Given the description of an element on the screen output the (x, y) to click on. 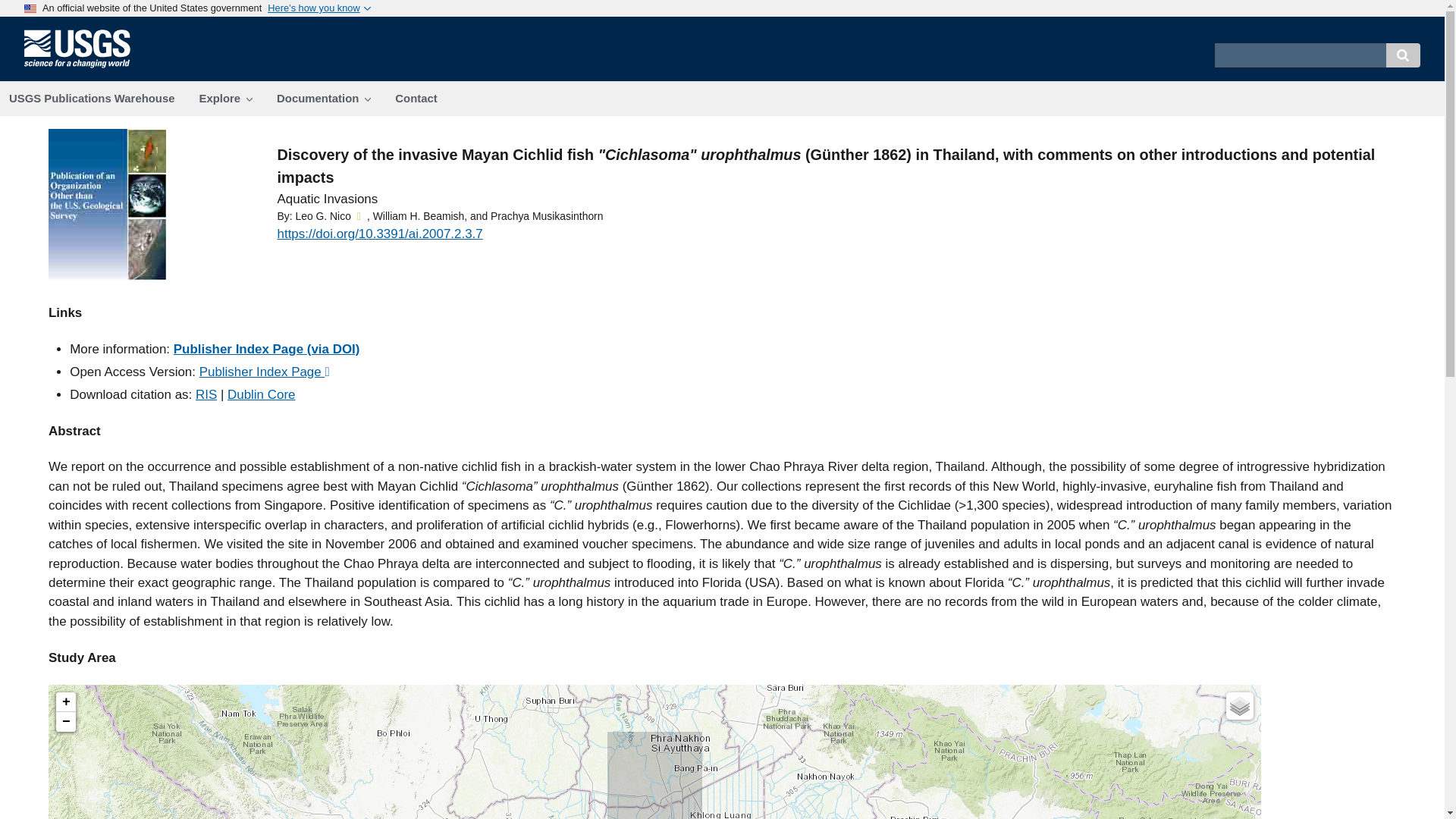
RIS (205, 394)
 Index Page (266, 349)
Documentation (323, 98)
Zoom in (65, 701)
Zoom out (65, 721)
Home (83, 66)
Publisher Index Page (264, 371)
Dublin Core (261, 394)
Contact (415, 98)
Explore (225, 98)
